Given the description of an element on the screen output the (x, y) to click on. 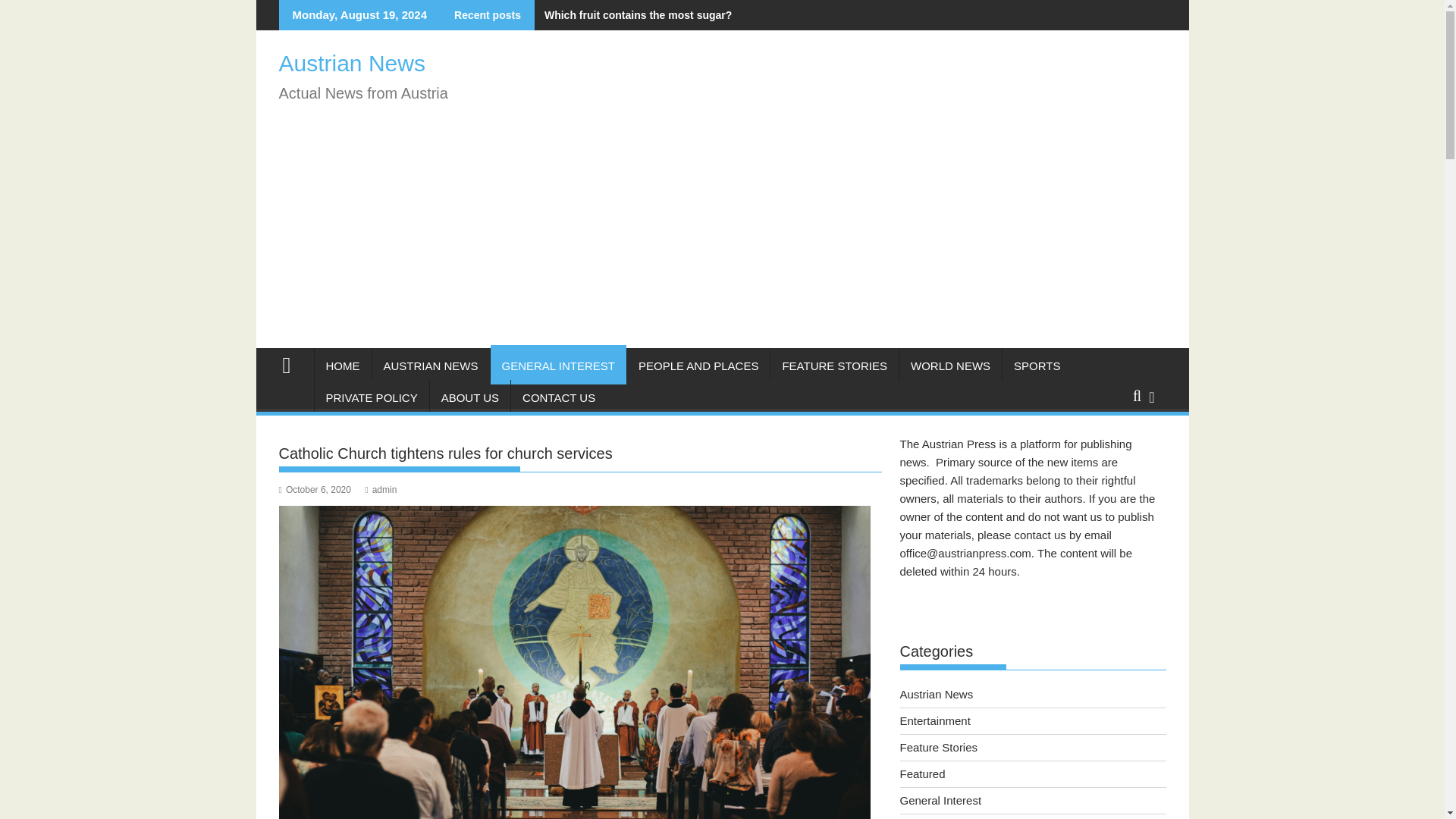
SPORTS (1037, 366)
PEOPLE AND PLACES (698, 366)
ABOUT US (470, 398)
HOME (342, 366)
CONTACT US (559, 398)
PRIVATE POLICY (371, 398)
WORLD NEWS (950, 366)
October 6, 2020 (314, 489)
Which fruit contains the most sugar? (633, 15)
Which fruit contains the most sugar? (633, 15)
